Given the description of an element on the screen output the (x, y) to click on. 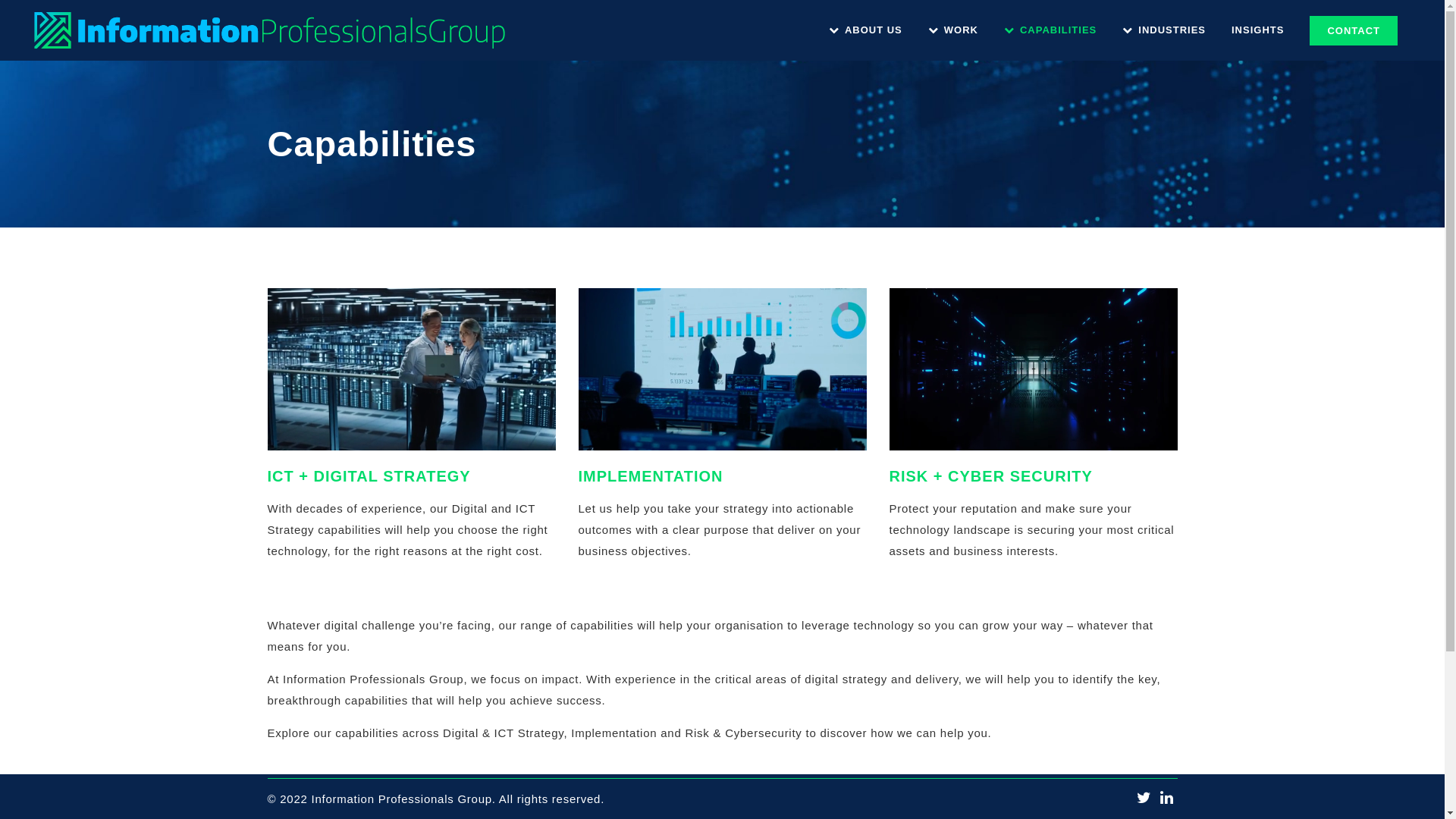
+61 7 3054 1062 Element type: text (332, 715)
WORK Element type: text (953, 30)
CONTACT Element type: text (1353, 29)
+61 2 9151 7363 Element type: text (575, 715)
INDUSTRIES Element type: text (1163, 30)
INSIGHTS Element type: text (1257, 30)
+61 3 8679 6599 Element type: text (803, 715)
+61 2 6108 3600 Element type: text (1030, 715)
ABOUT US Element type: text (865, 30)
CAPABILITIES Element type: text (1050, 30)
